Given the description of an element on the screen output the (x, y) to click on. 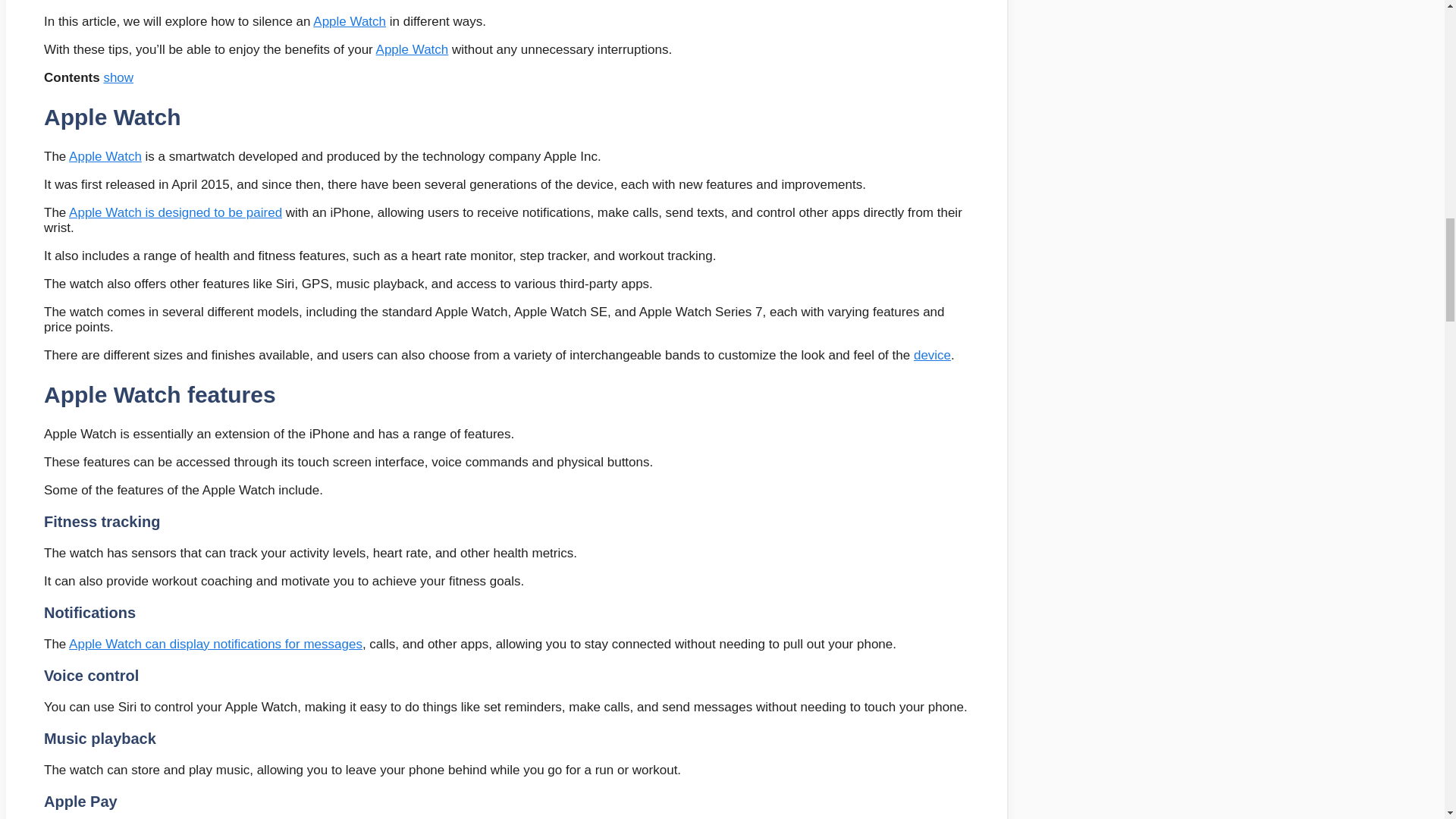
Apple Watch (349, 21)
show (118, 77)
Apple Watch (411, 49)
Apple Watch can display notifications for messages (215, 644)
Apple Watch is designed to be paired (175, 212)
Apple Watch (104, 156)
device (932, 355)
